Given the description of an element on the screen output the (x, y) to click on. 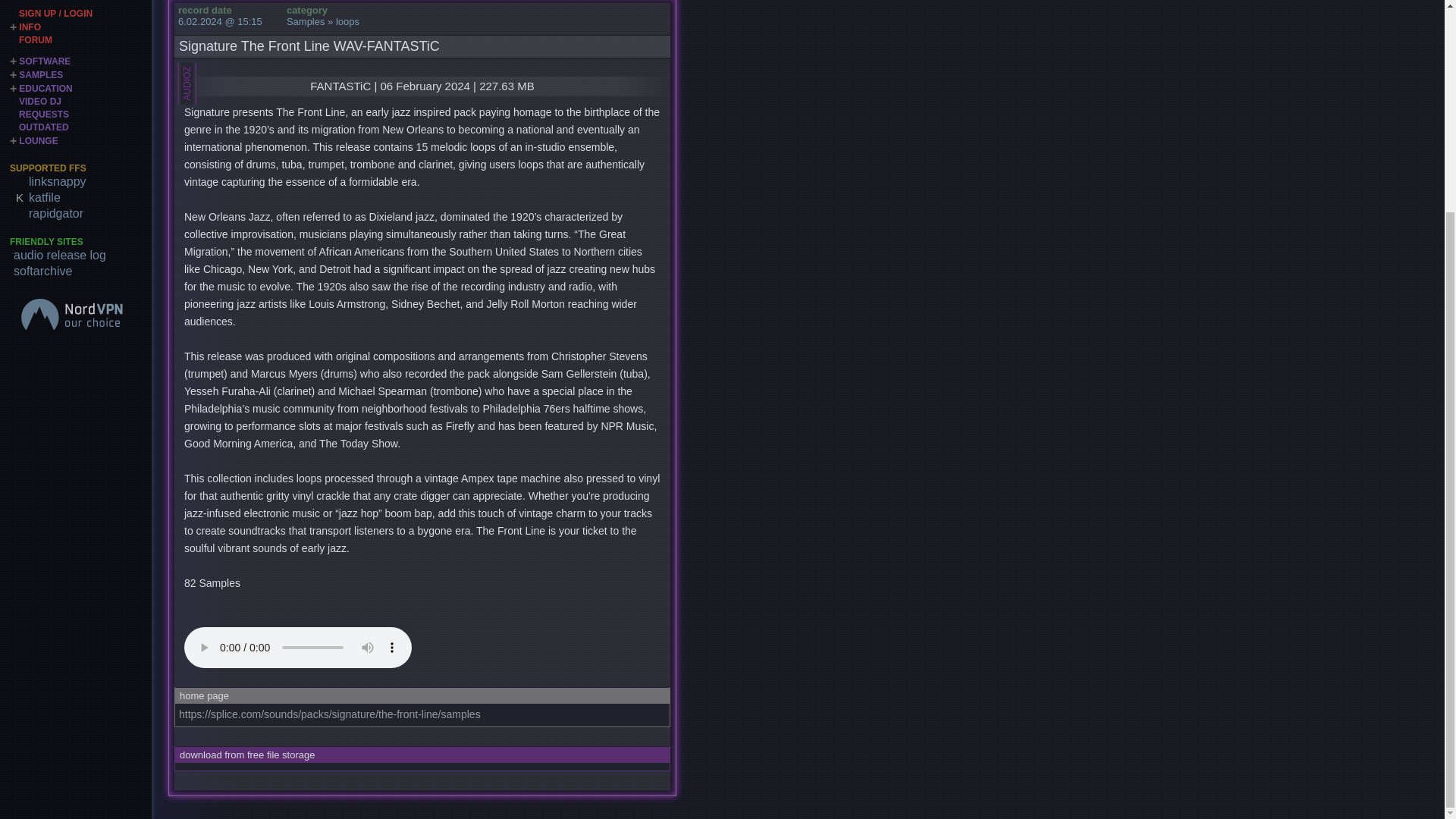
Get RG Premium! Everybody should have one. (82, 98)
Samples and Software Released Before 2008 (43, 11)
United Pro Audio Web Groups Offical Release Log (82, 139)
